Given the description of an element on the screen output the (x, y) to click on. 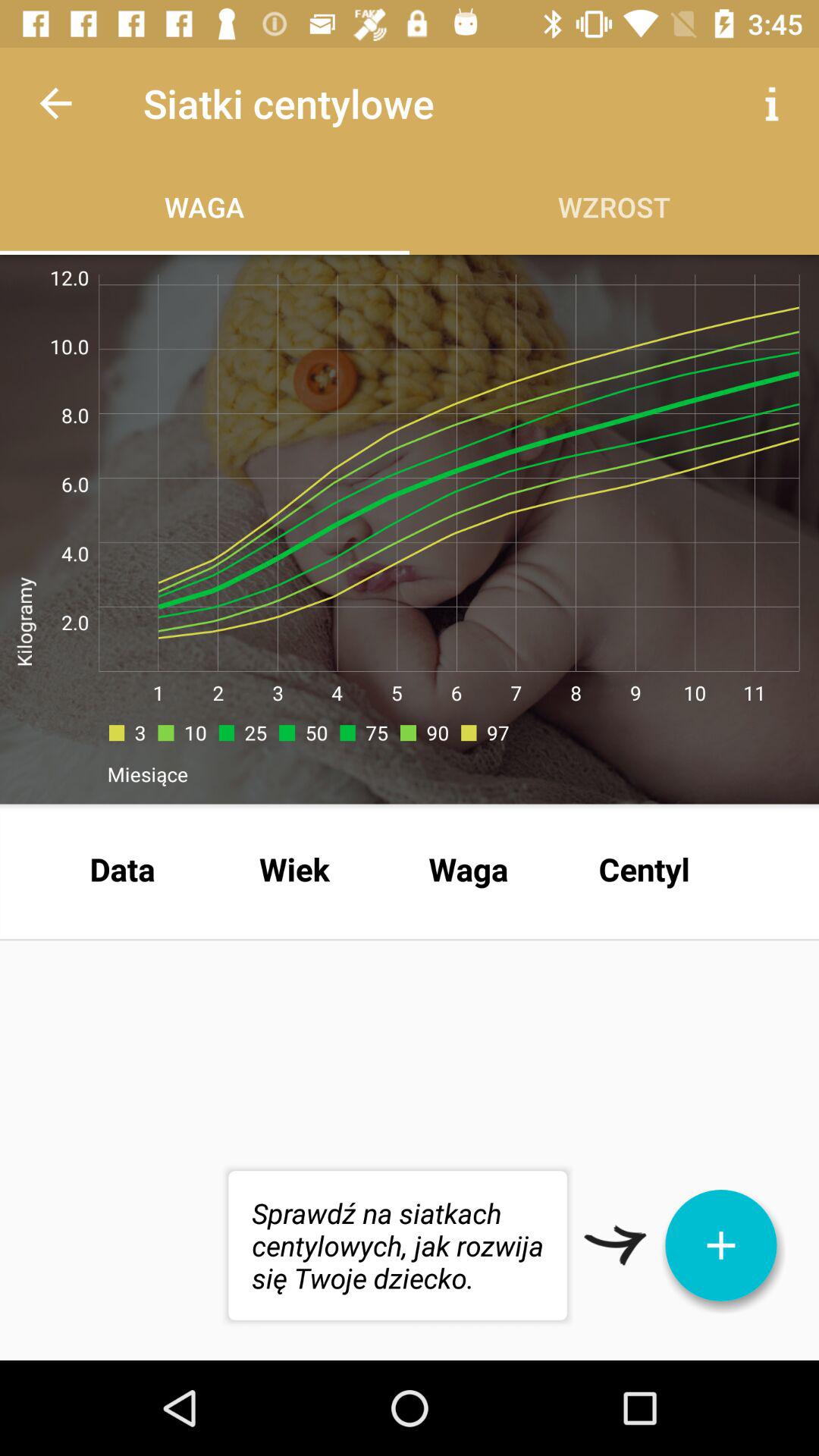
turn on item next to the siatki centylowe app (771, 103)
